Given the description of an element on the screen output the (x, y) to click on. 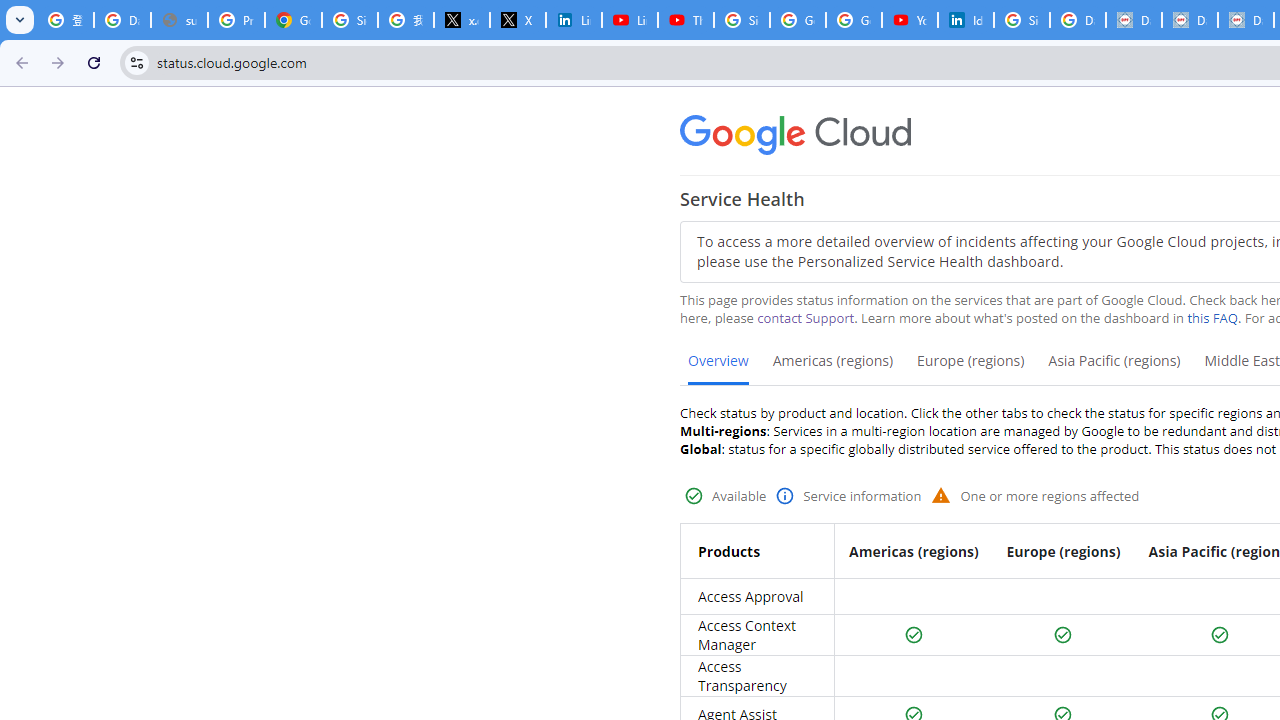
LinkedIn Privacy Policy (573, 20)
Data Privacy Framework (1190, 20)
Data Privacy Framework (1133, 20)
Sign in - Google Accounts (1021, 20)
Sign in - Google Accounts (742, 20)
